Given the description of an element on the screen output the (x, y) to click on. 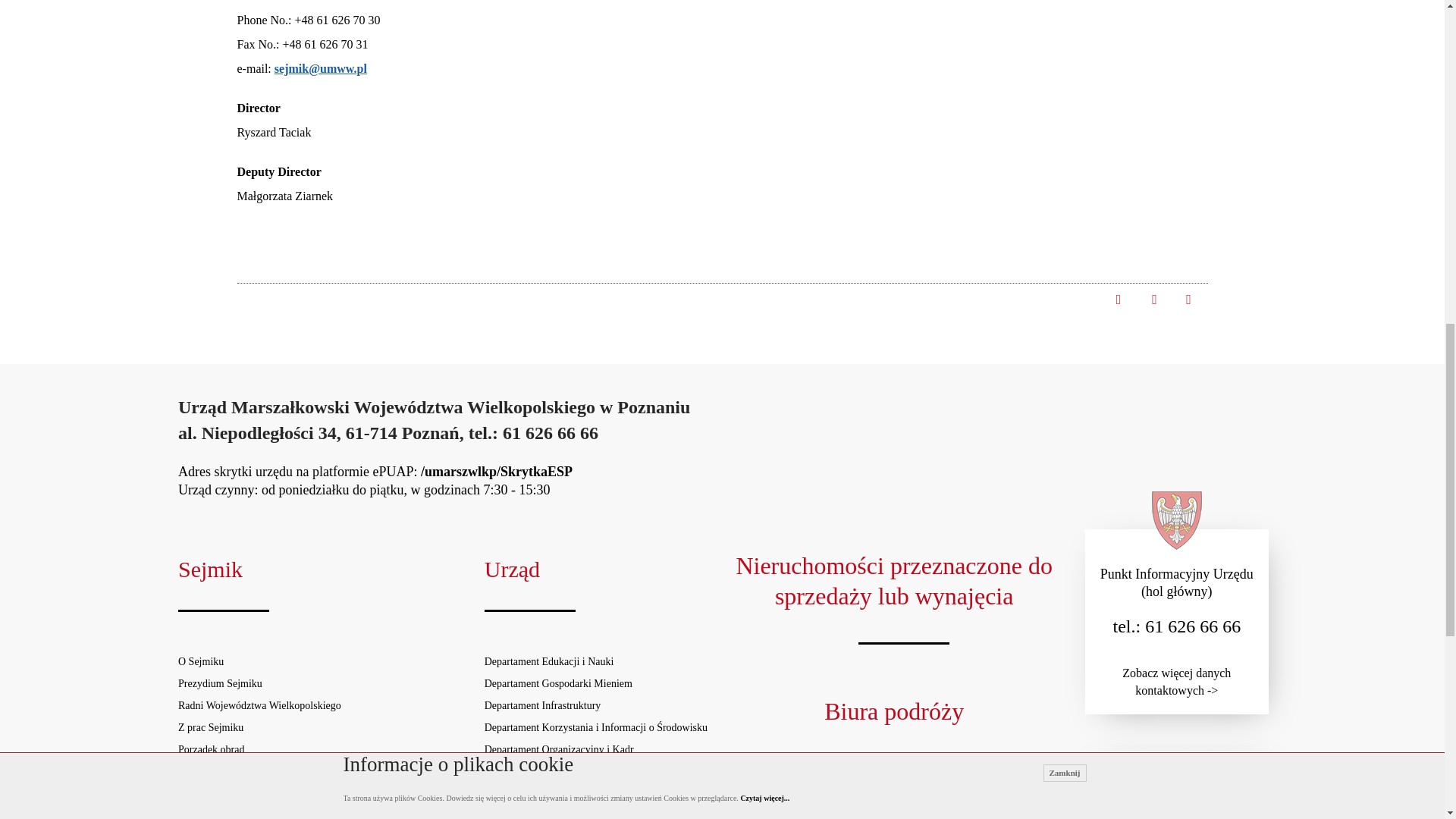
link (1187, 297)
